Given the description of an element on the screen output the (x, y) to click on. 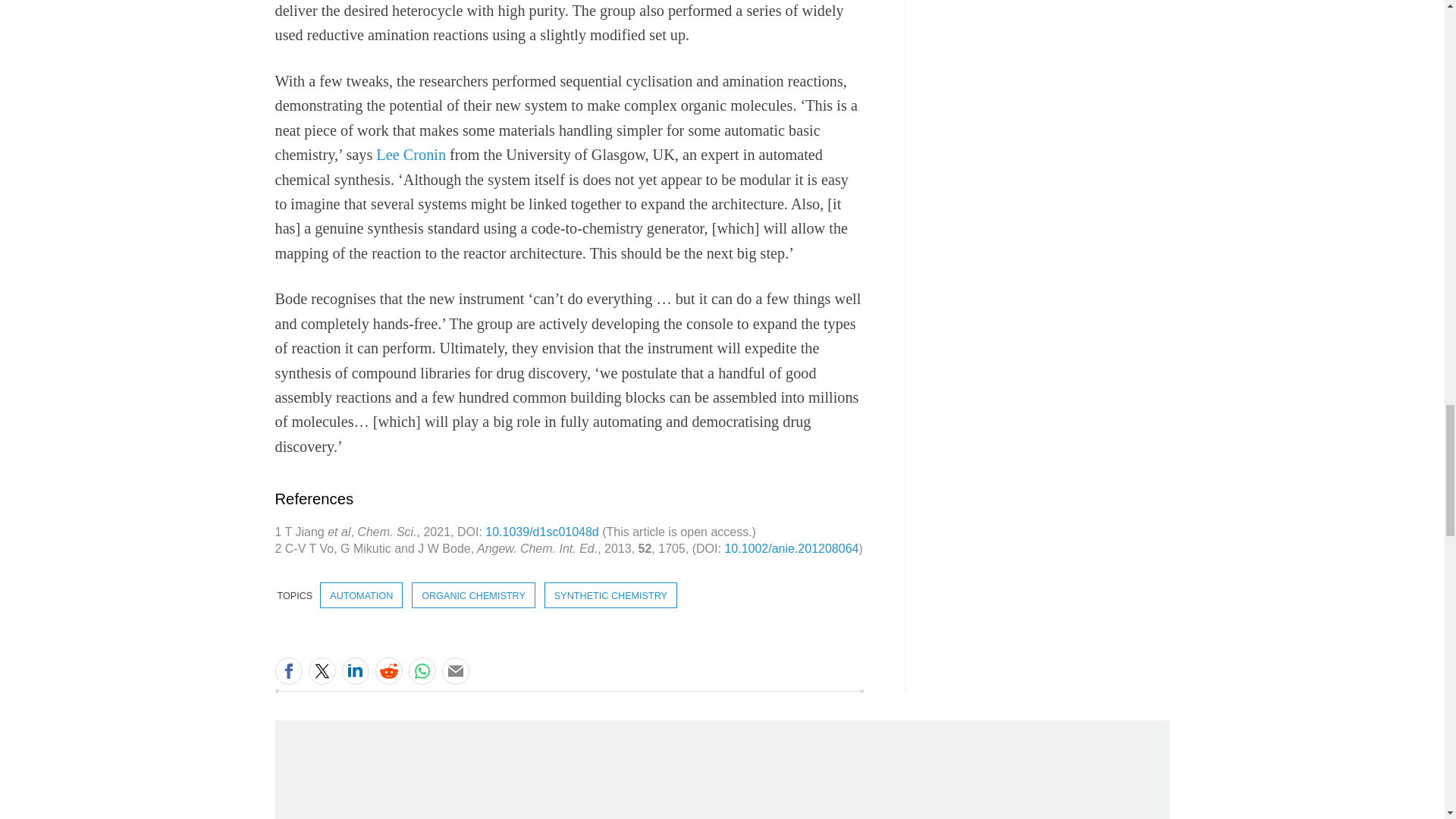
Share this on Reddit (387, 670)
Share this on WhatsApp (421, 670)
Share this on Facebook (288, 670)
NO COMMENTS (492, 679)
Share this on LinkedIn (354, 670)
Share this by email (454, 670)
